Given the description of an element on the screen output the (x, y) to click on. 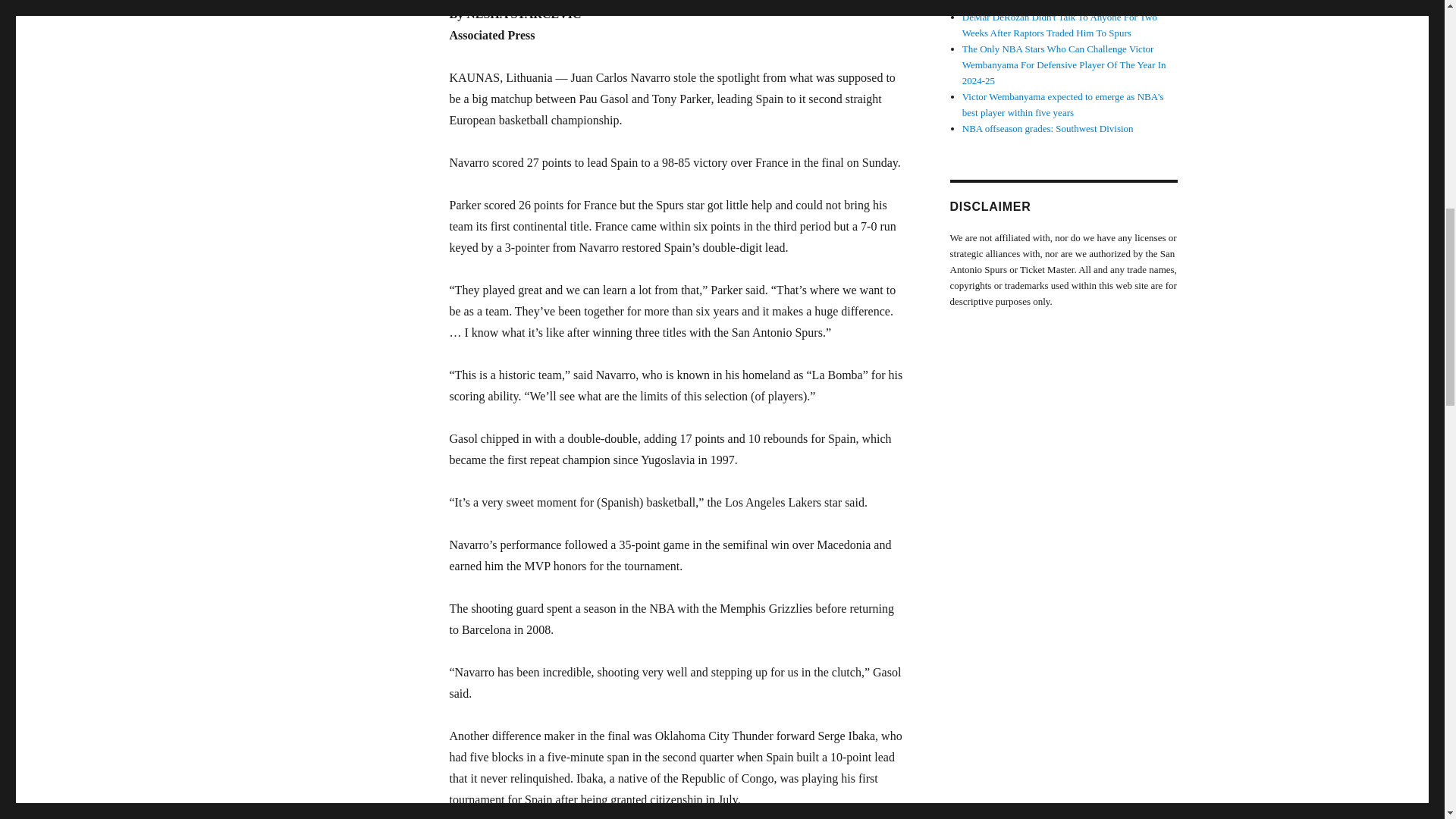
New Duo Of CP3 And Wemby Look To Put Spurs Back On Map (1061, 3)
